Given the description of an element on the screen output the (x, y) to click on. 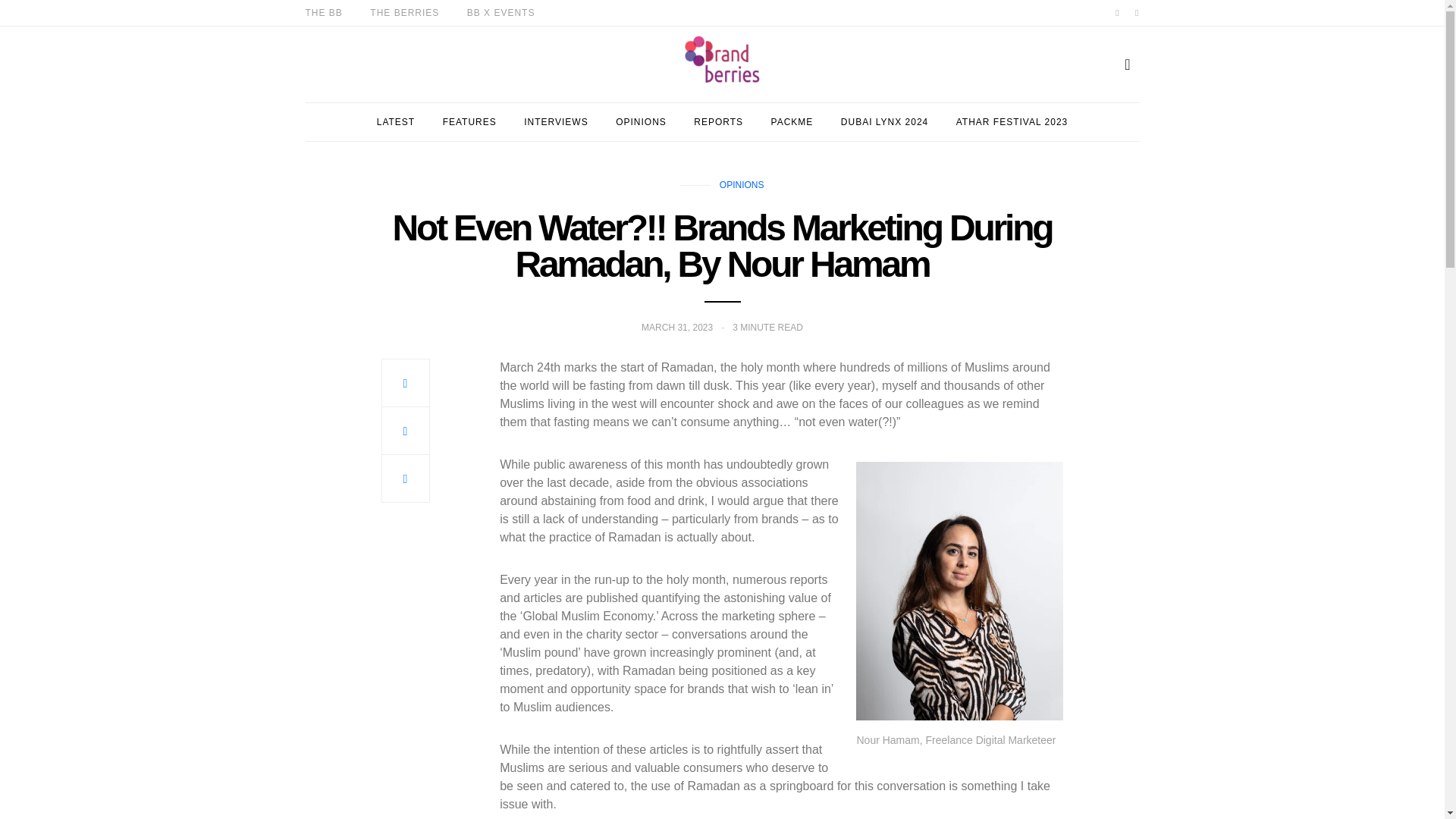
REPORTS (718, 121)
OPINIONS (640, 121)
ATHAR FESTIVAL 2023 (1012, 121)
THE BERRIES (404, 12)
INTERVIEWS (556, 121)
BB X EVENTS (501, 12)
THE BB (323, 12)
PACKME (792, 121)
OPINIONS (741, 184)
DUBAI LYNX 2024 (884, 121)
